Given the description of an element on the screen output the (x, y) to click on. 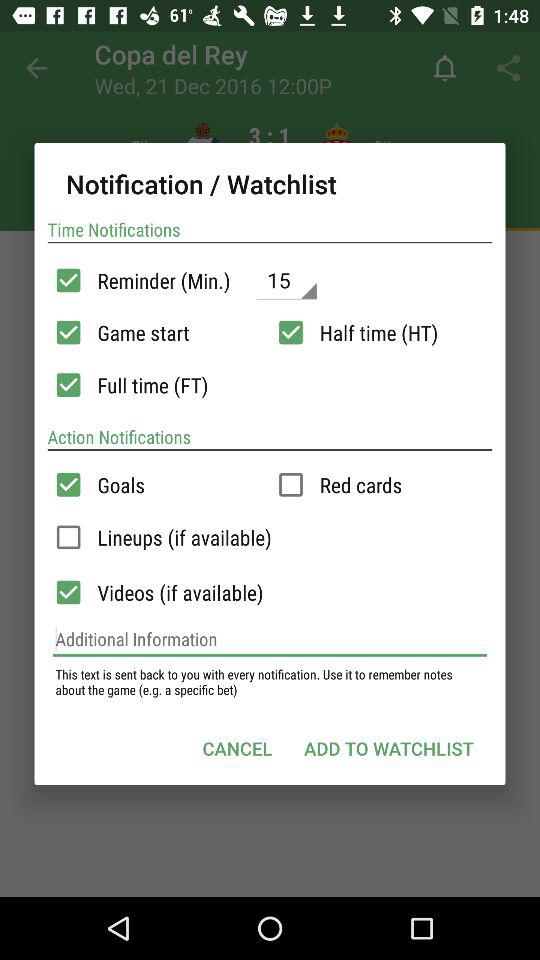
validate option (68, 332)
